Given the description of an element on the screen output the (x, y) to click on. 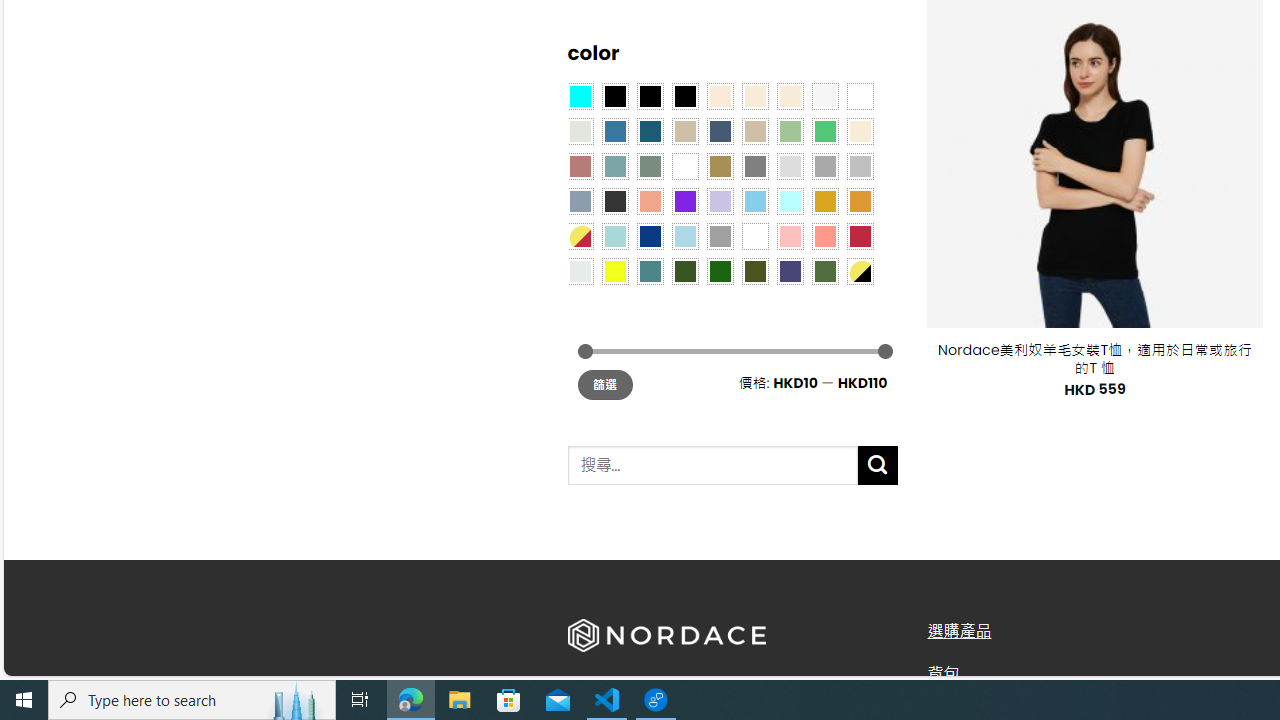
Dull Nickle (579, 270)
